Given the description of an element on the screen output the (x, y) to click on. 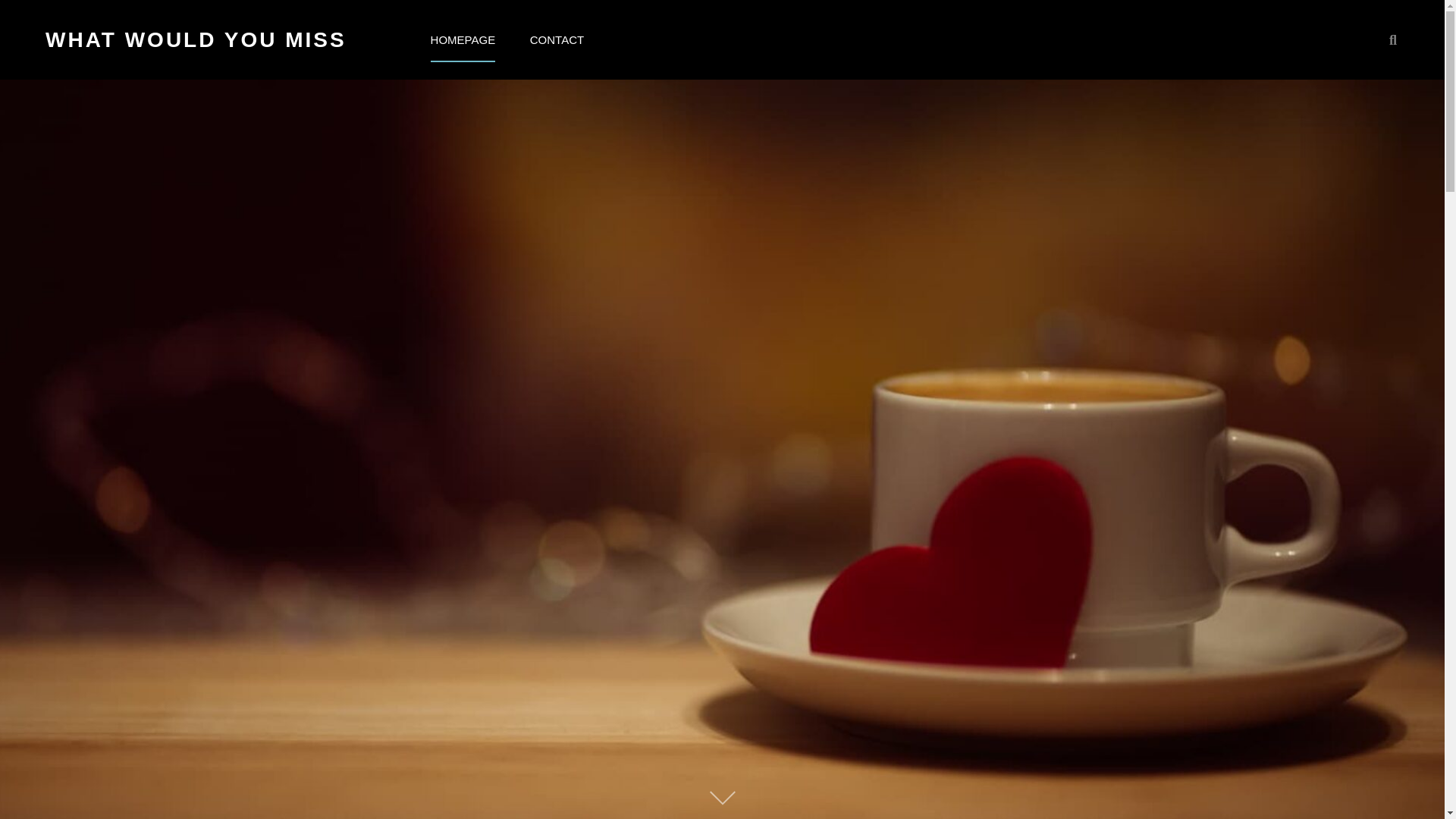
SEARCH (1392, 39)
CONTACT (556, 40)
WHAT WOULD YOU MISS (195, 39)
HOMEPAGE (462, 40)
